Given the description of an element on the screen output the (x, y) to click on. 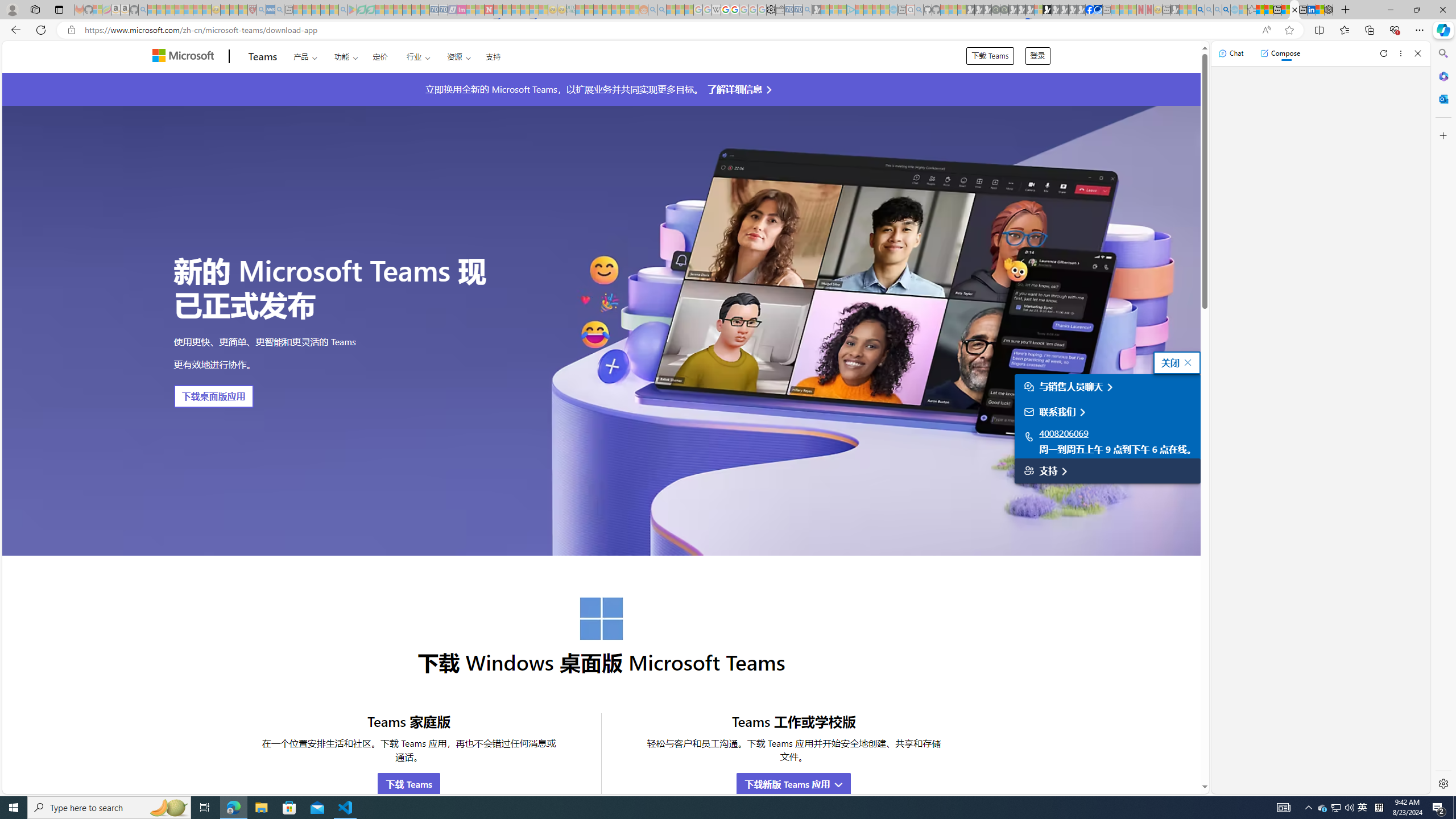
Close Customize pane (1442, 135)
Sign in to your account - Sleeping (1038, 9)
